Given the description of an element on the screen output the (x, y) to click on. 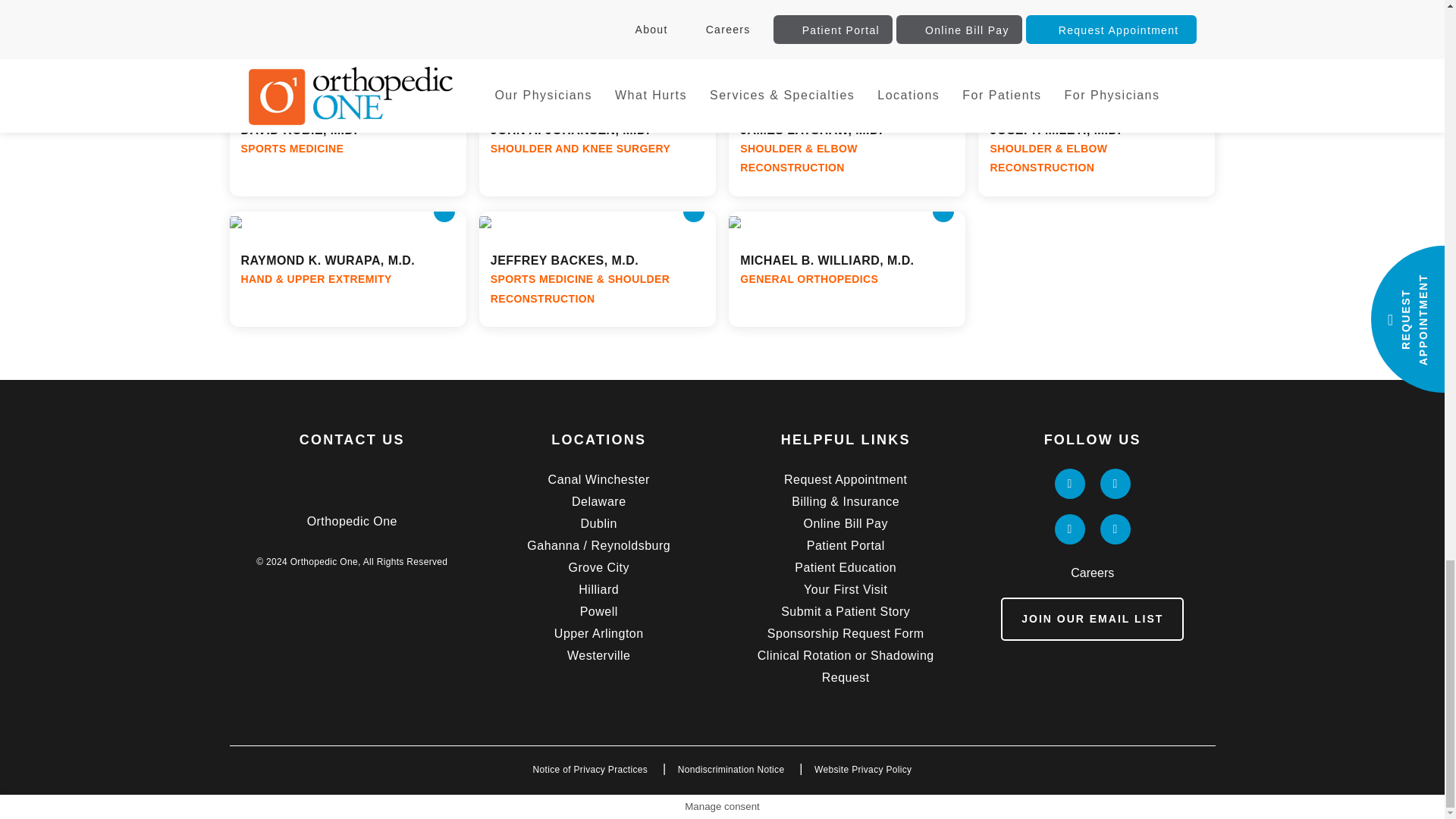
Join Our Email List (1092, 618)
Orthopedic One Home Page (352, 478)
Careers (1092, 573)
